Given the description of an element on the screen output the (x, y) to click on. 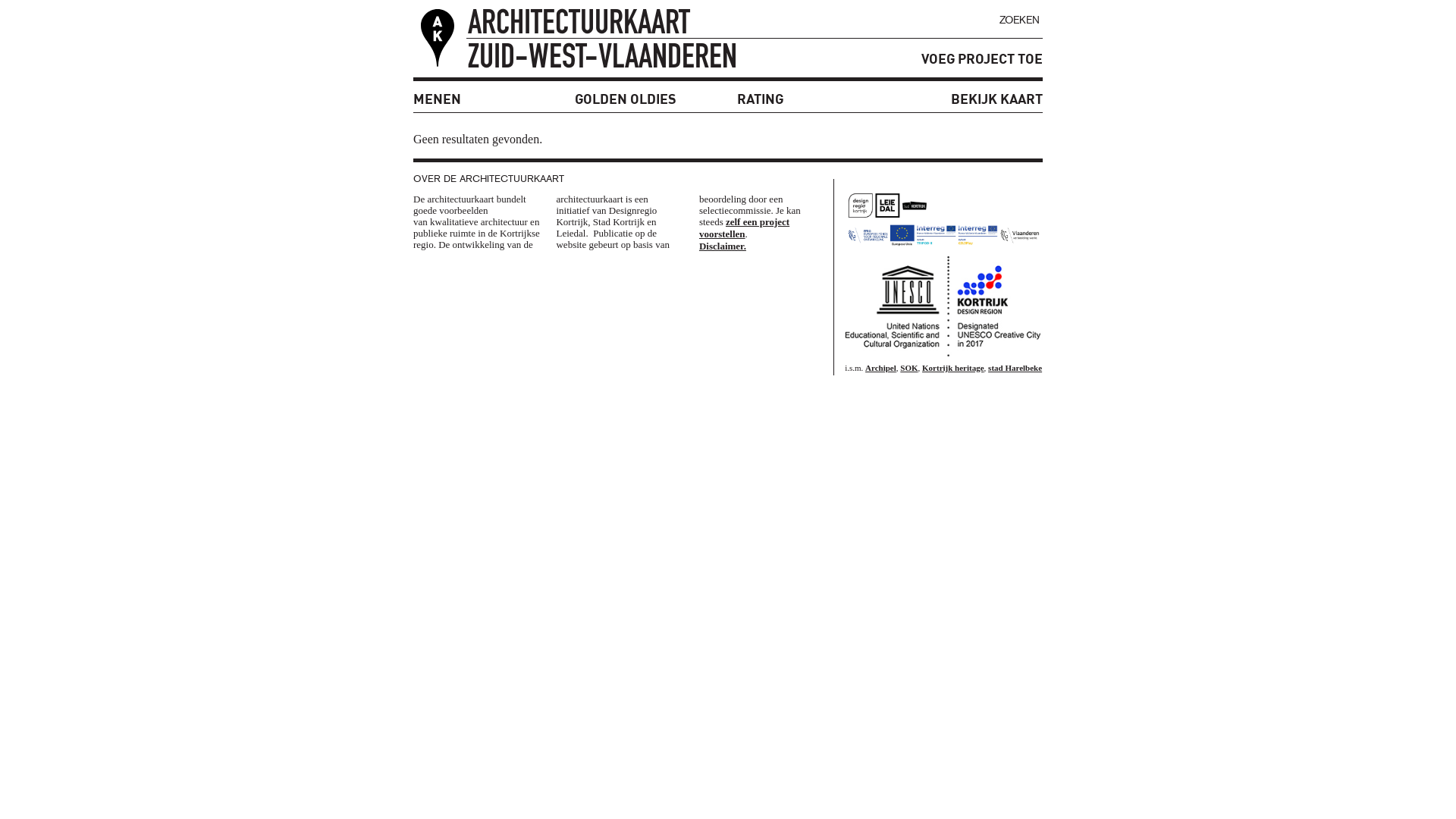
Kortrijk heritage Element type: text (953, 367)
zelf een project voorstellen Element type: text (744, 227)
ARCHITECTUURKAART ZUID-WEST-VLAANDEREN Element type: text (584, 26)
Disclaimer. Element type: text (722, 245)
SOK Element type: text (908, 367)
stad Harelbeke Element type: text (1014, 367)
BEKIJK KAART Element type: text (996, 98)
Archipel Element type: text (880, 367)
VOEG PROJECT TOE Element type: text (981, 58)
